Given the description of an element on the screen output the (x, y) to click on. 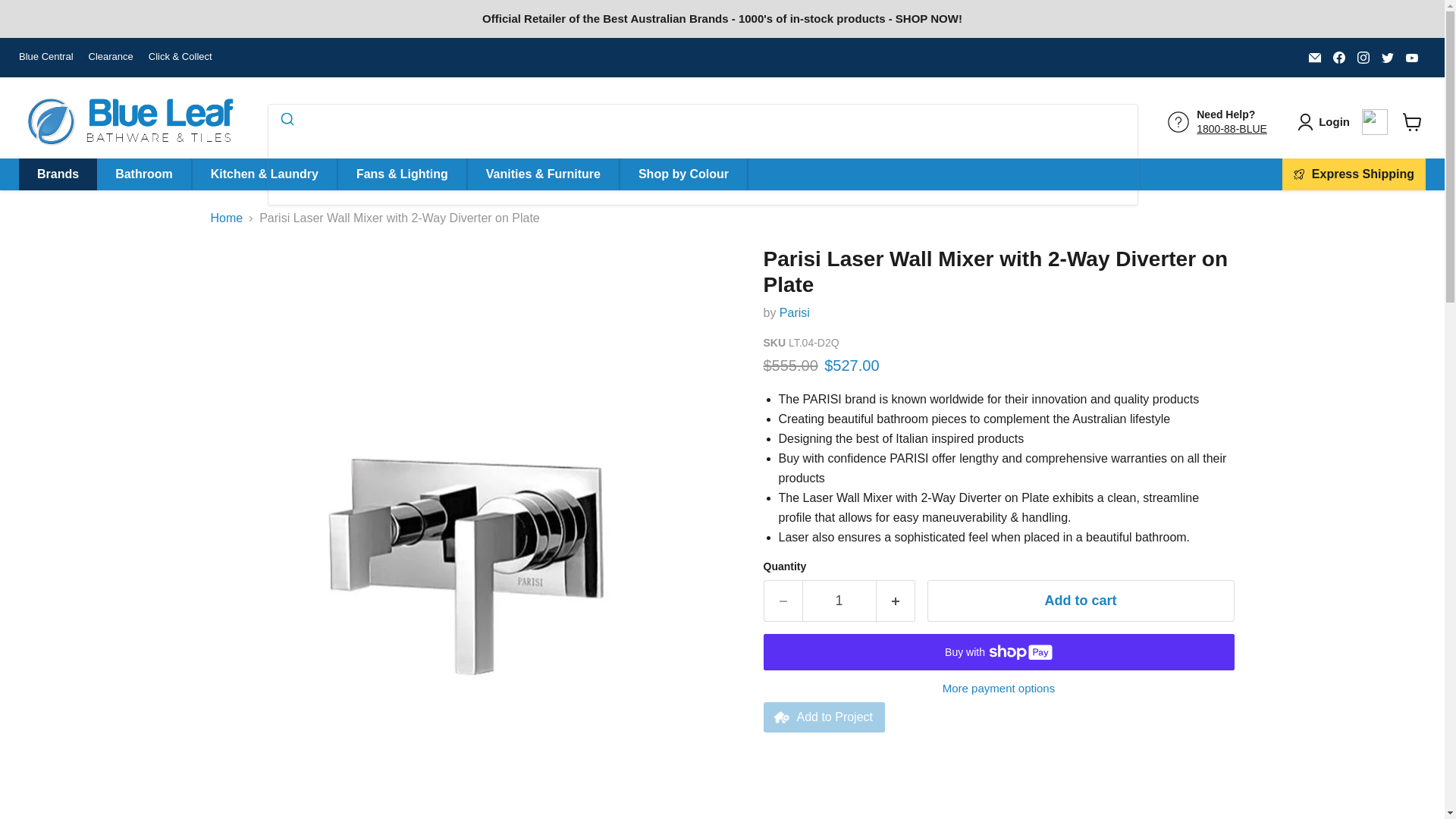
Clearance (110, 57)
Find us on Facebook (1338, 56)
YouTube (1411, 56)
1800-88-BLUE (1231, 128)
Blue Central (46, 57)
1800-88-BLUE (1231, 128)
Twitter (1387, 56)
Parisi (793, 312)
Submit (285, 121)
Instagram (1363, 56)
Facebook (1338, 56)
Find us on YouTube (1411, 56)
Login (1326, 122)
Find us on Twitter (1387, 56)
Email (1314, 56)
